Given the description of an element on the screen output the (x, y) to click on. 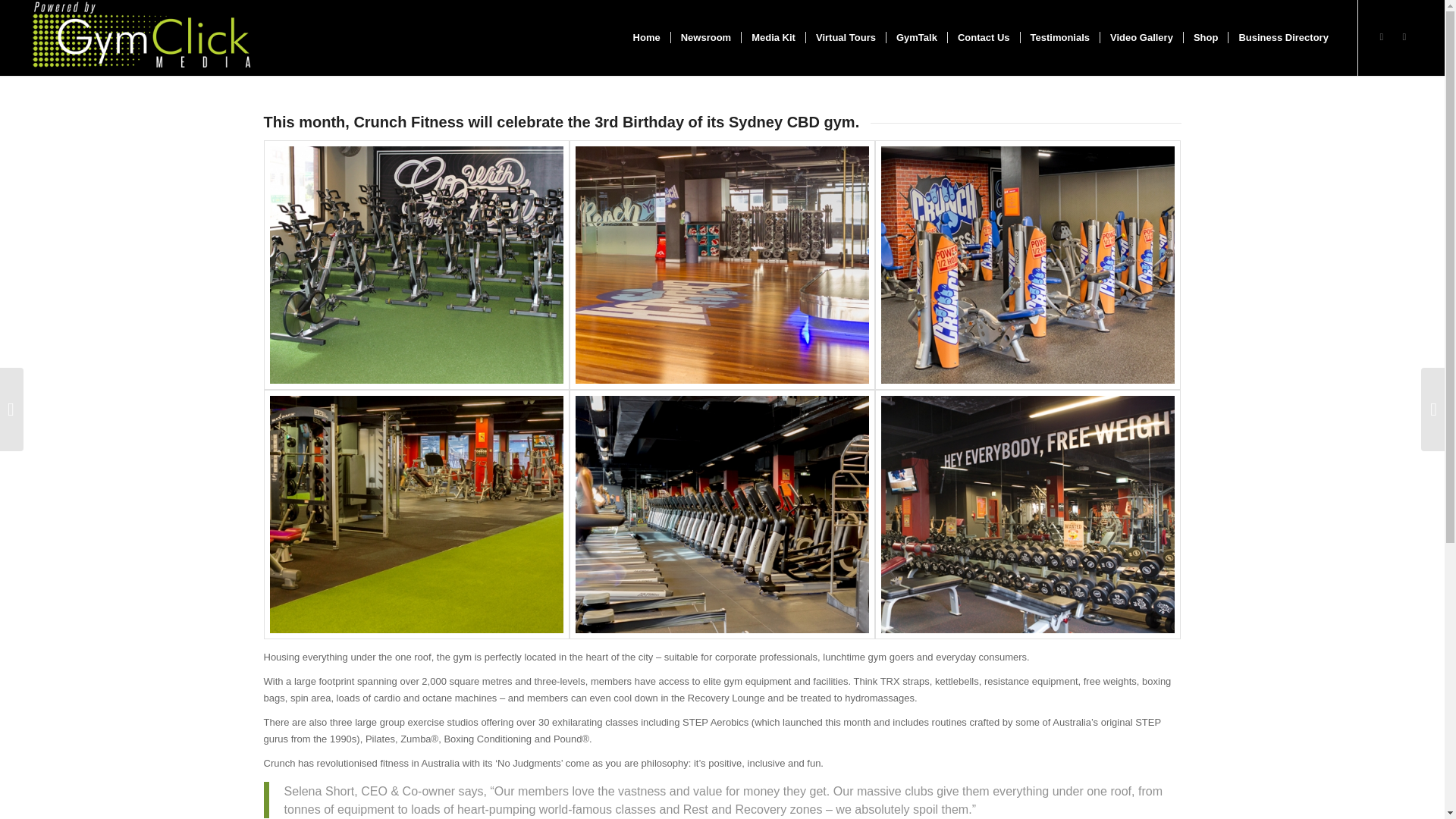
Contact Us (983, 38)
Business Directory (1282, 38)
Testimonials (1060, 38)
Facebook (1404, 36)
Video Gallery (1140, 38)
Virtual Tours (845, 38)
Newsroom (705, 38)
Instagram (1381, 36)
